Given the description of an element on the screen output the (x, y) to click on. 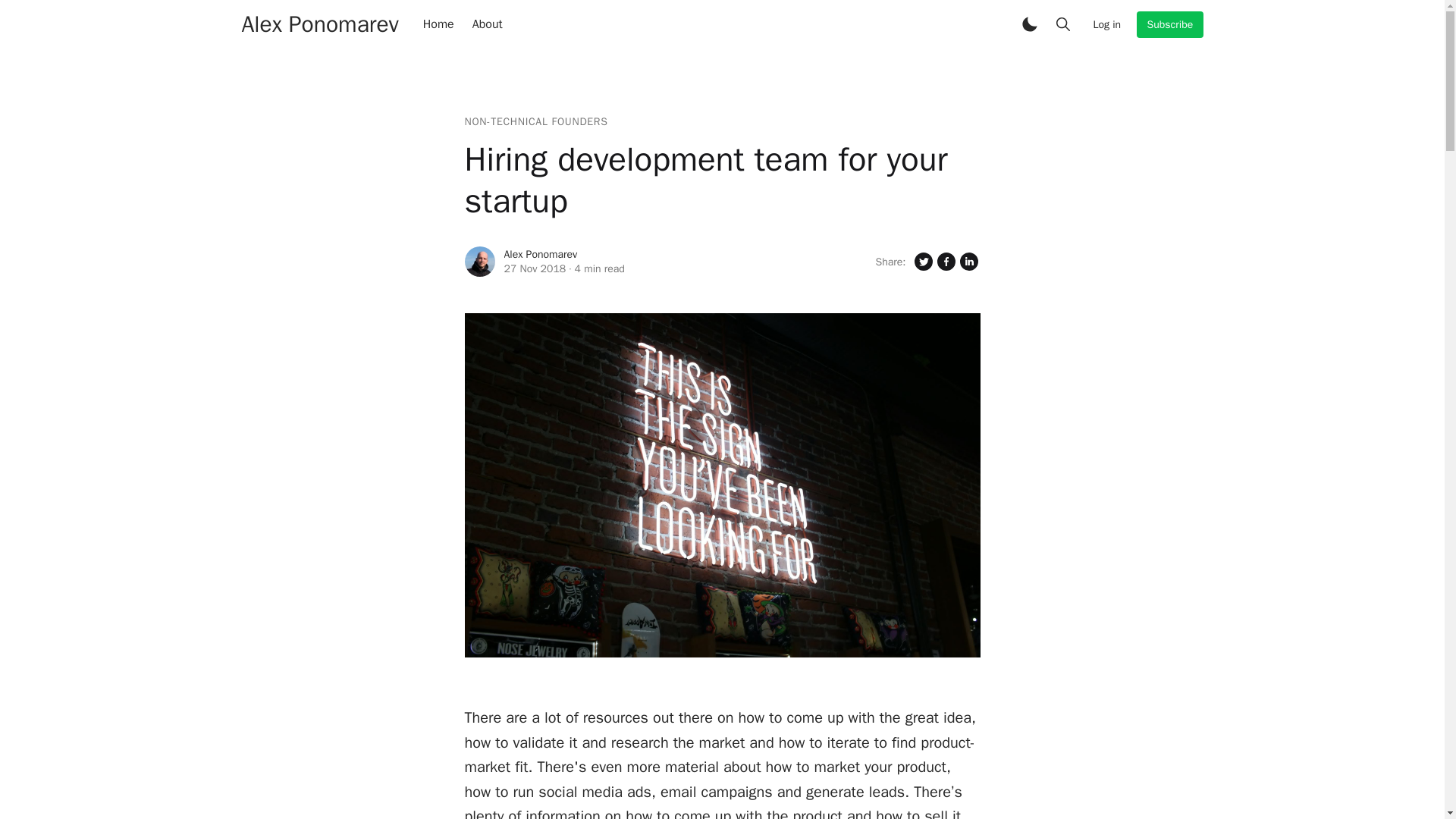
Subscribe (1169, 23)
Alex Ponomarev (319, 24)
About (487, 24)
4 min read (599, 268)
NON-TECHNICAL FOUNDERS (535, 121)
Go to the profile of Alex Ponomarev (479, 261)
Share on Linkedin (967, 261)
Home (438, 24)
Updated 27 Nov 2018 (534, 268)
Alex Ponomarev (539, 254)
Share on Twitter (922, 261)
Log in (1107, 23)
Share on Facebook (945, 261)
